Given the description of an element on the screen output the (x, y) to click on. 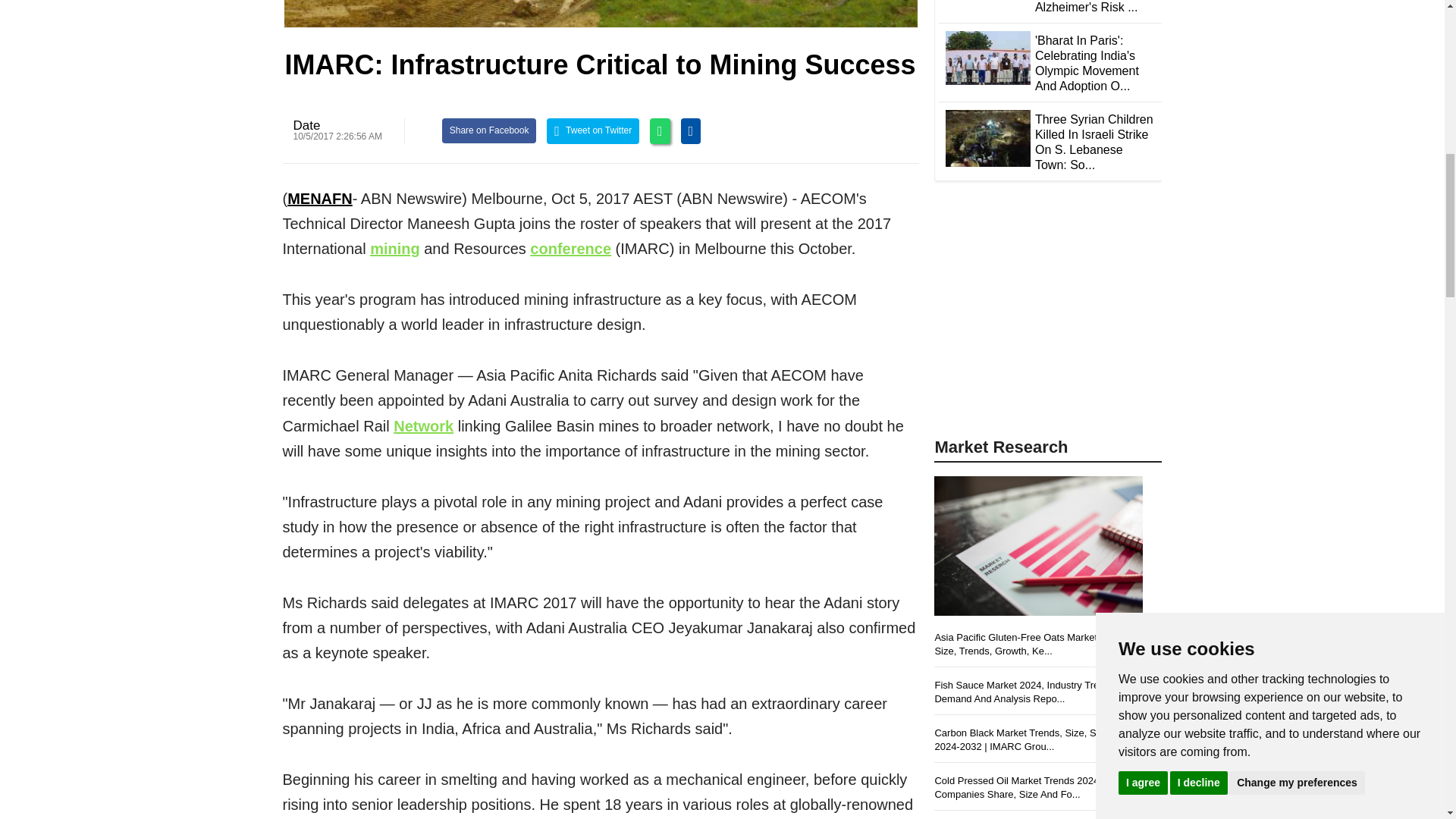
Advertisement (1047, 320)
Posts by NewEdge (306, 124)
IMARC: Infrastructure Critical to Mining Success (600, 13)
